Given the description of an element on the screen output the (x, y) to click on. 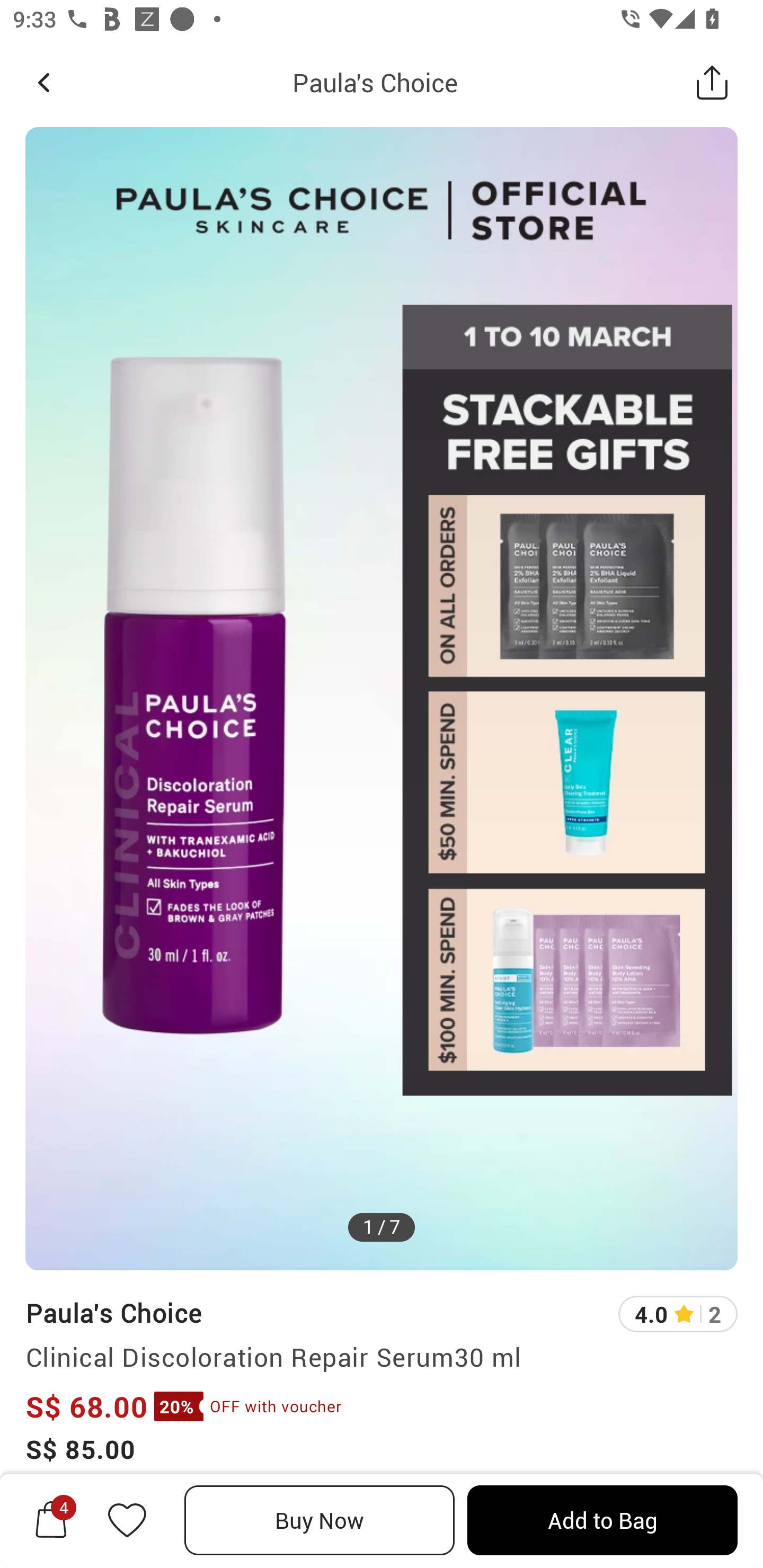
Paula's Choice (375, 82)
Share this Product (711, 82)
Paula's Choice (113, 1312)
4.0 2 (677, 1313)
Buy Now (319, 1519)
Add to Bag (601, 1519)
4 (50, 1520)
